Given the description of an element on the screen output the (x, y) to click on. 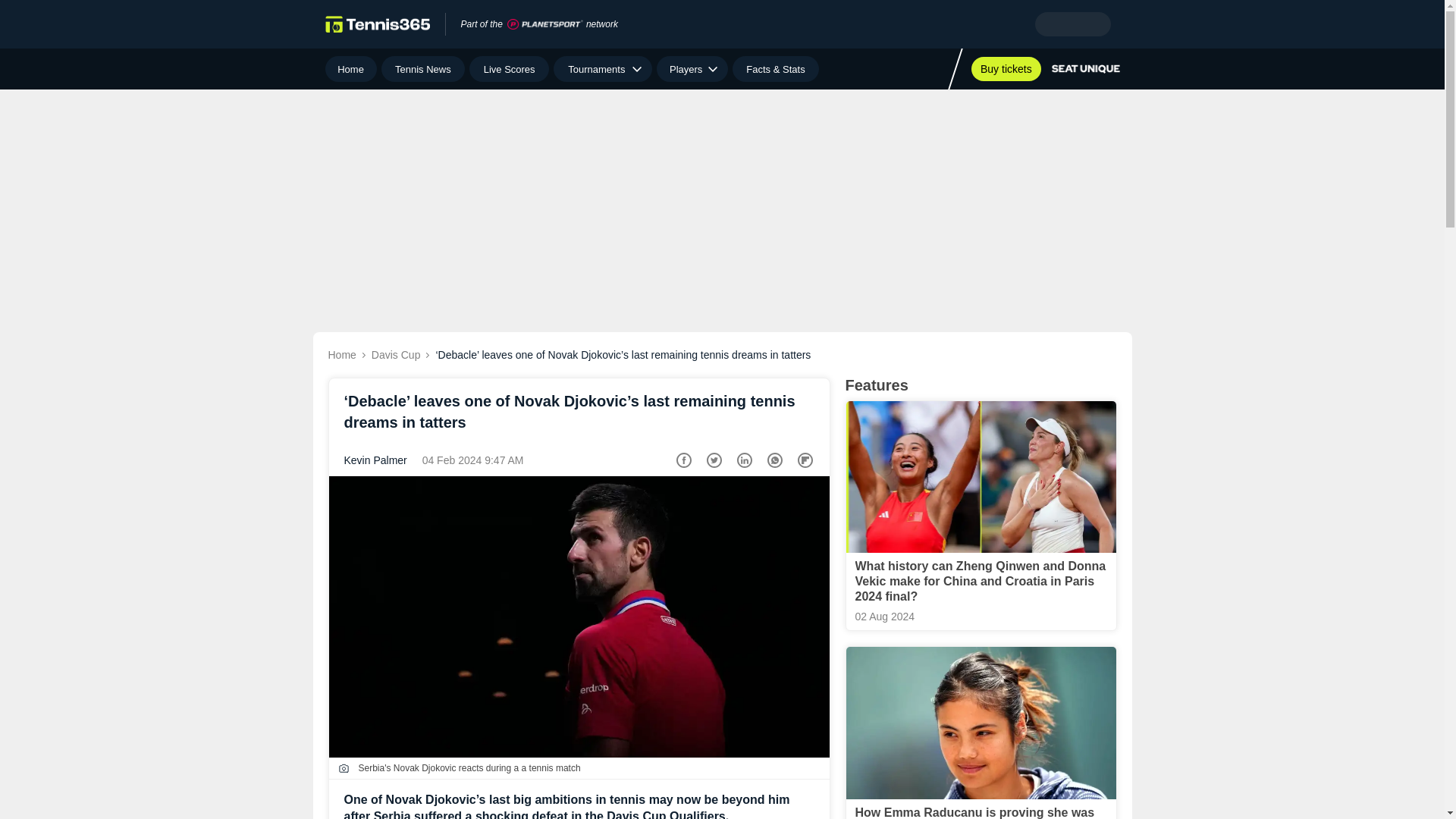
Home (349, 68)
Players (692, 68)
Tournaments (601, 68)
Tennis News (423, 68)
Live Scores (508, 68)
Buy tickets (1006, 68)
